Given the description of an element on the screen output the (x, y) to click on. 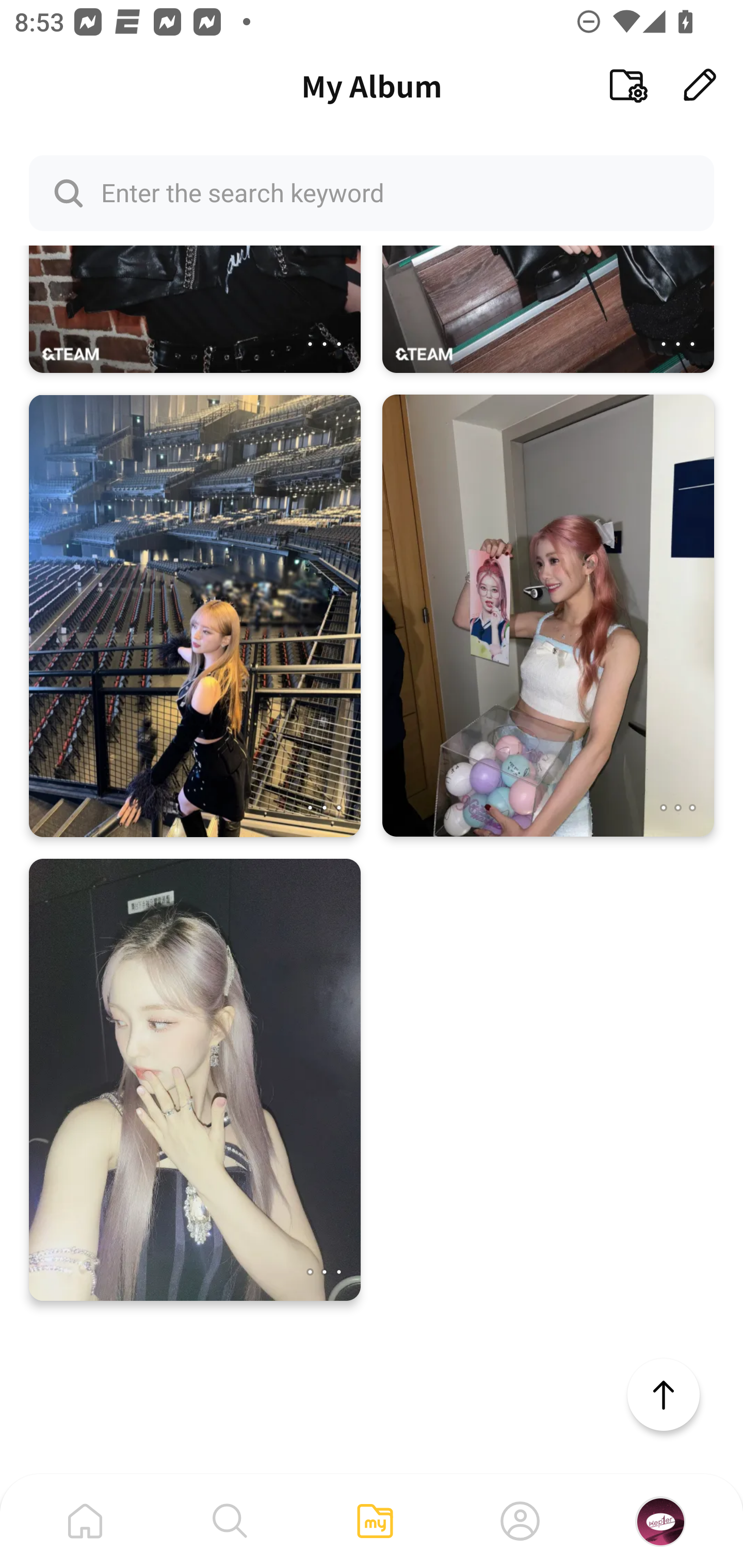
Enter the search keyword (371, 192)
